Given the description of an element on the screen output the (x, y) to click on. 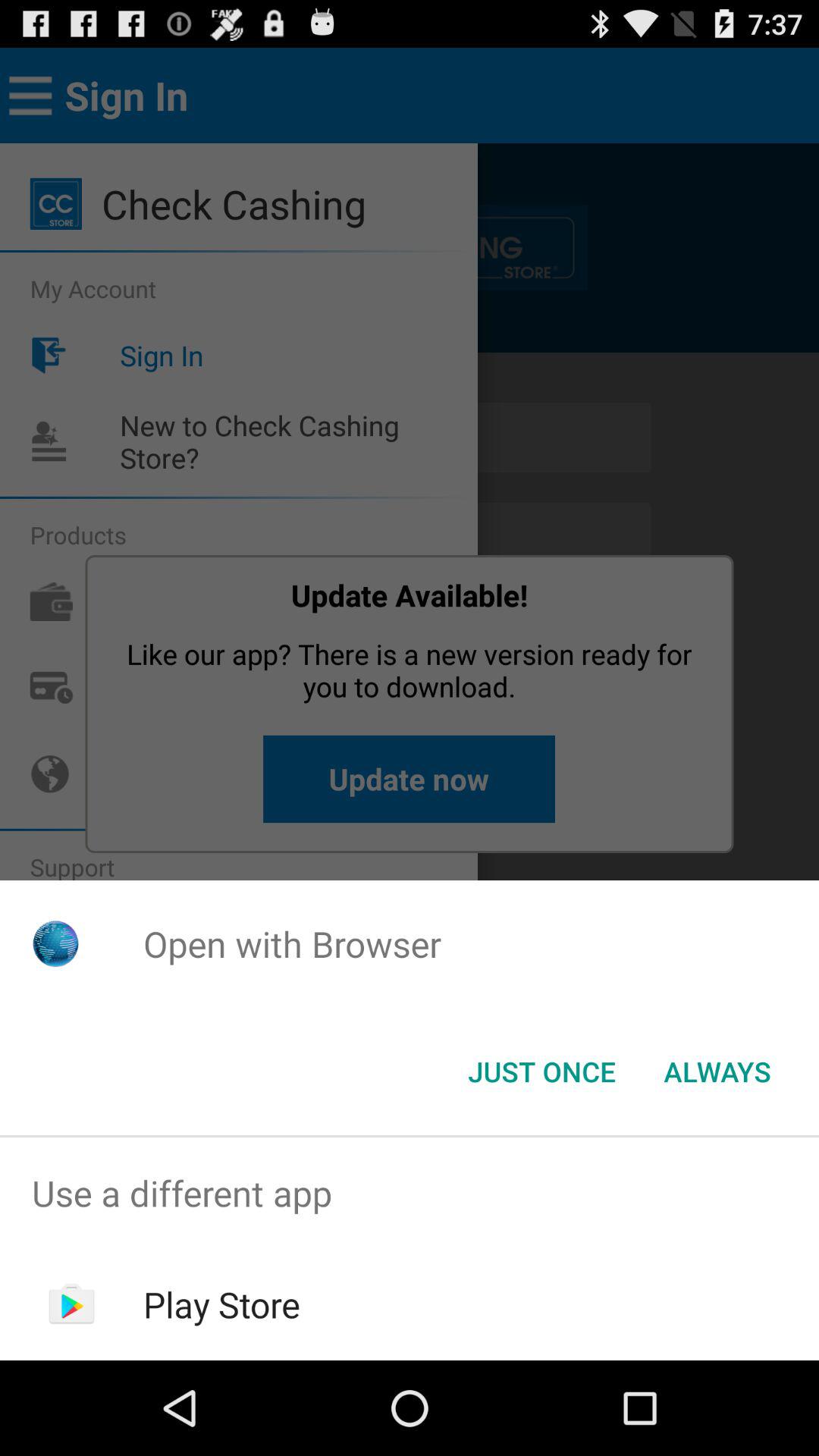
click the icon below the open with browser item (717, 1071)
